Given the description of an element on the screen output the (x, y) to click on. 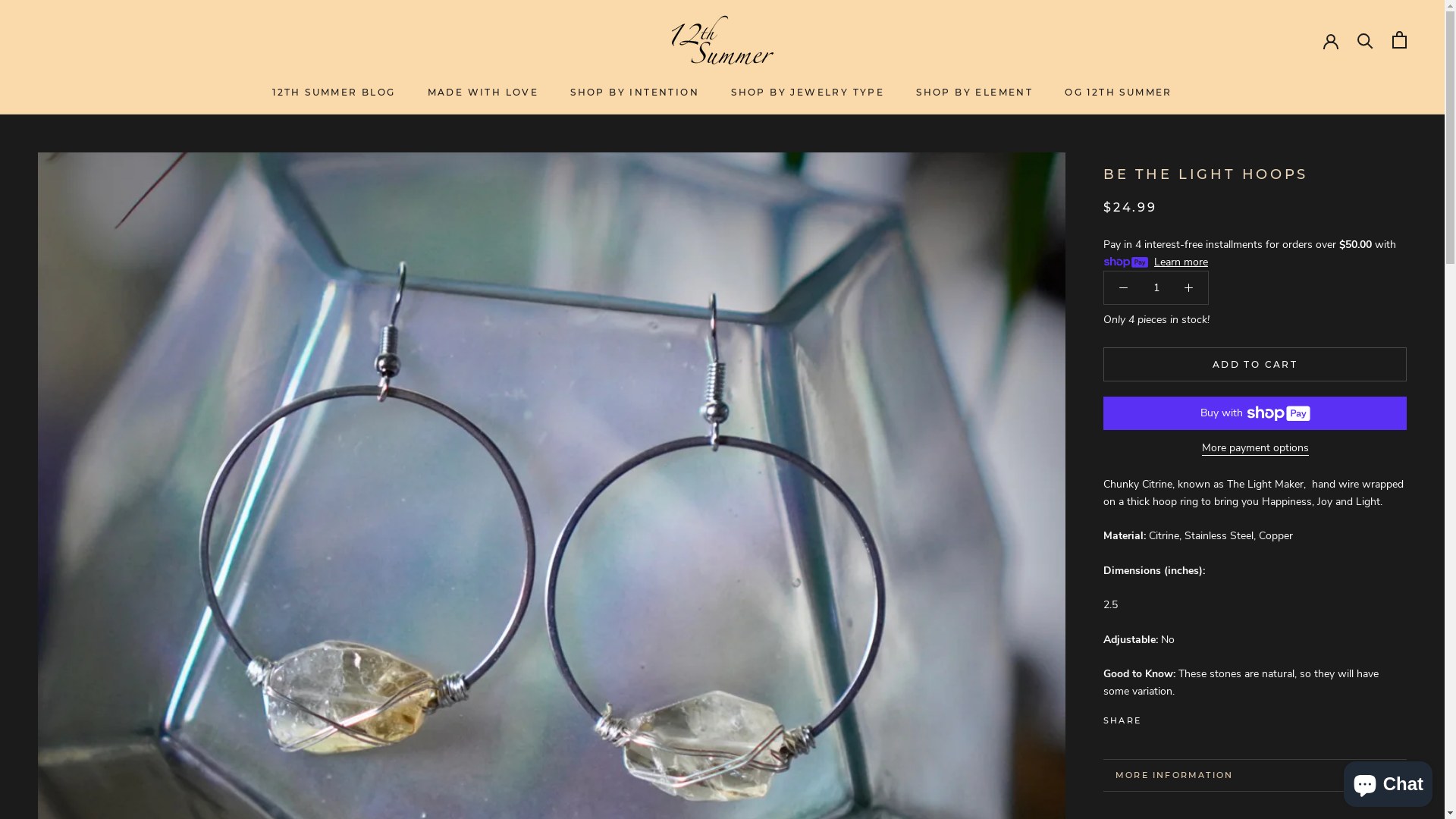
OG 12TH SUMMER
OG 12TH SUMMER Element type: text (1118, 91)
SHOP BY INTENTION Element type: text (634, 91)
SHOP BY JEWELRY TYPE Element type: text (807, 91)
SHOP BY ELEMENT Element type: text (974, 91)
MORE INFORMATION Element type: text (1254, 774)
More payment options Element type: text (1254, 447)
Shopify online store chat Element type: hover (1388, 780)
MADE WITH LOVE
MADE WITH LOVE Element type: text (483, 91)
12TH SUMMER BLOG
12TH SUMMER BLOG Element type: text (333, 91)
ADD TO CART Element type: text (1254, 364)
